Given the description of an element on the screen output the (x, y) to click on. 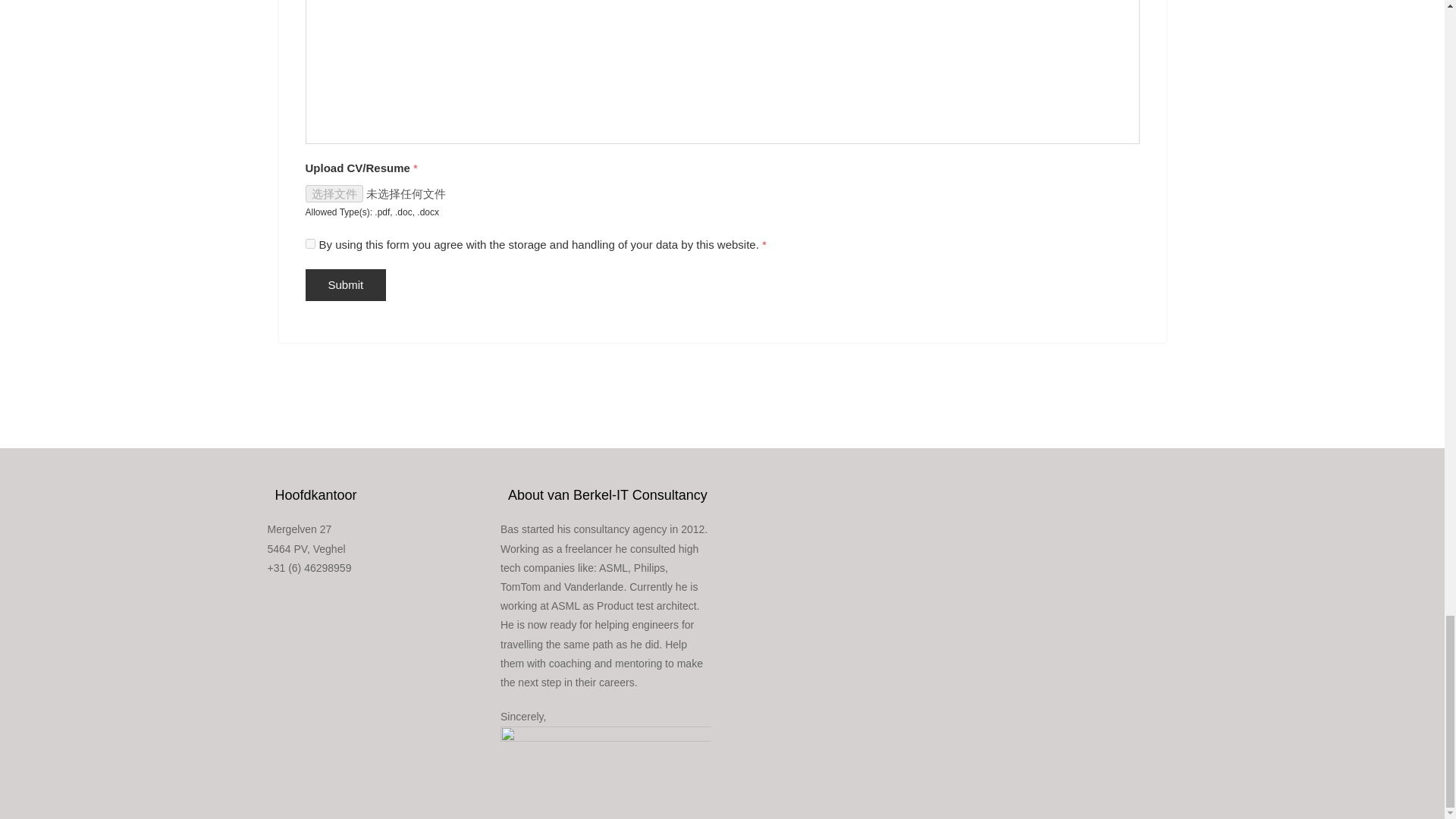
Submit (344, 284)
Submit (344, 284)
yes (309, 243)
